Given the description of an element on the screen output the (x, y) to click on. 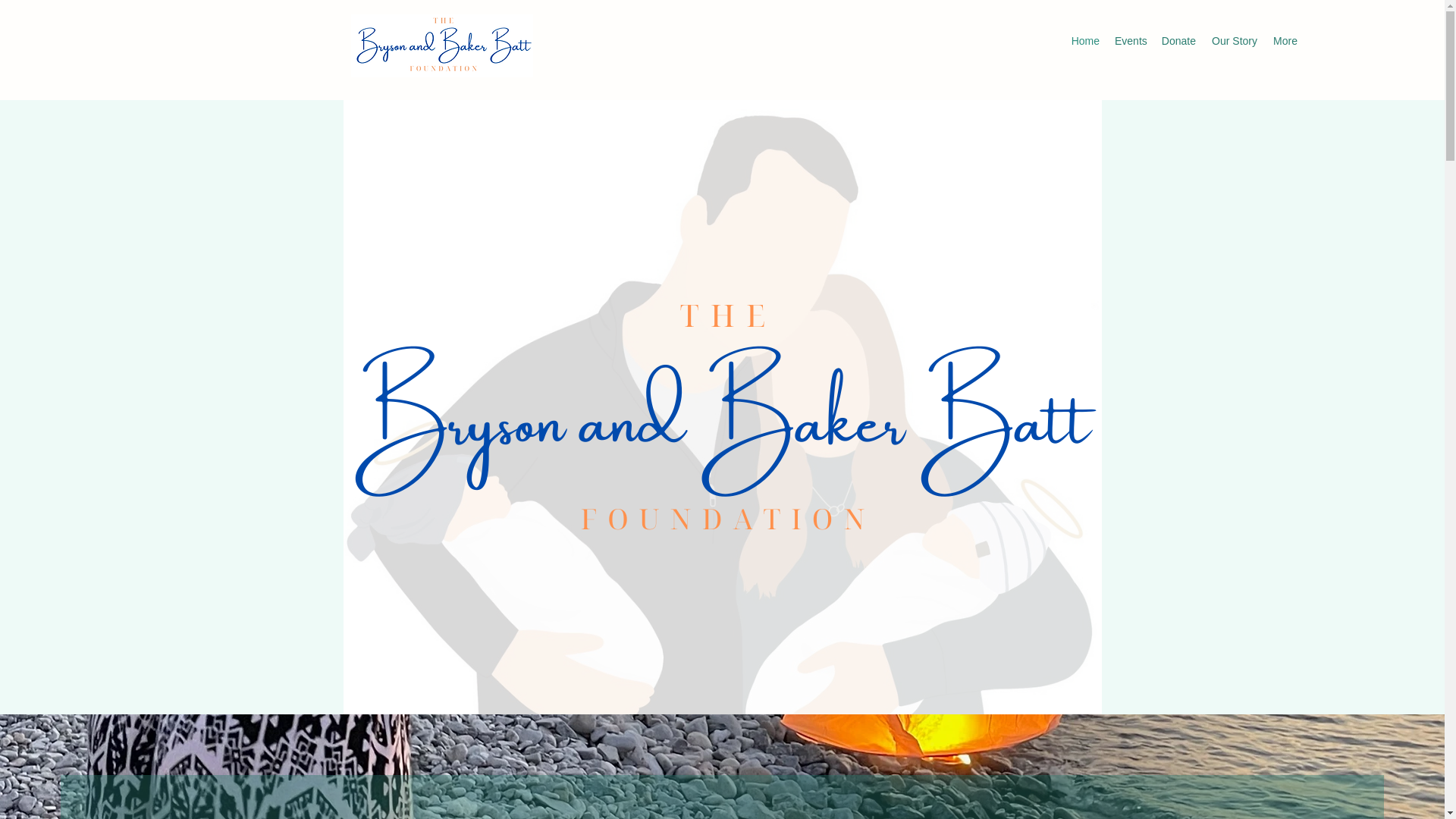
Home (1084, 40)
Donate (1178, 40)
Our Story (1234, 40)
Events (1129, 40)
